Given the description of an element on the screen output the (x, y) to click on. 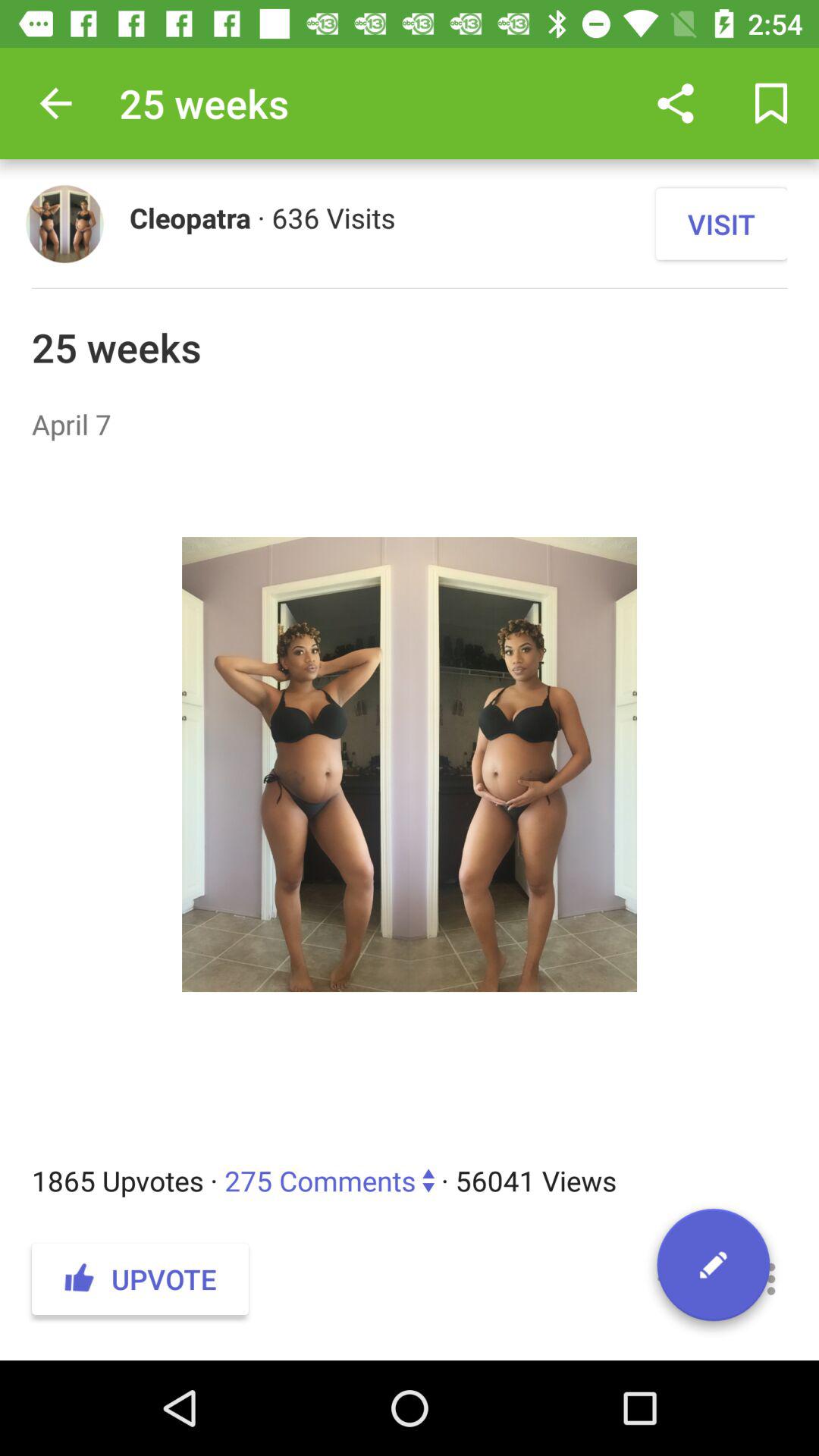
scroll to the 1865 upvotes 275 icon (409, 1180)
